Given the description of an element on the screen output the (x, y) to click on. 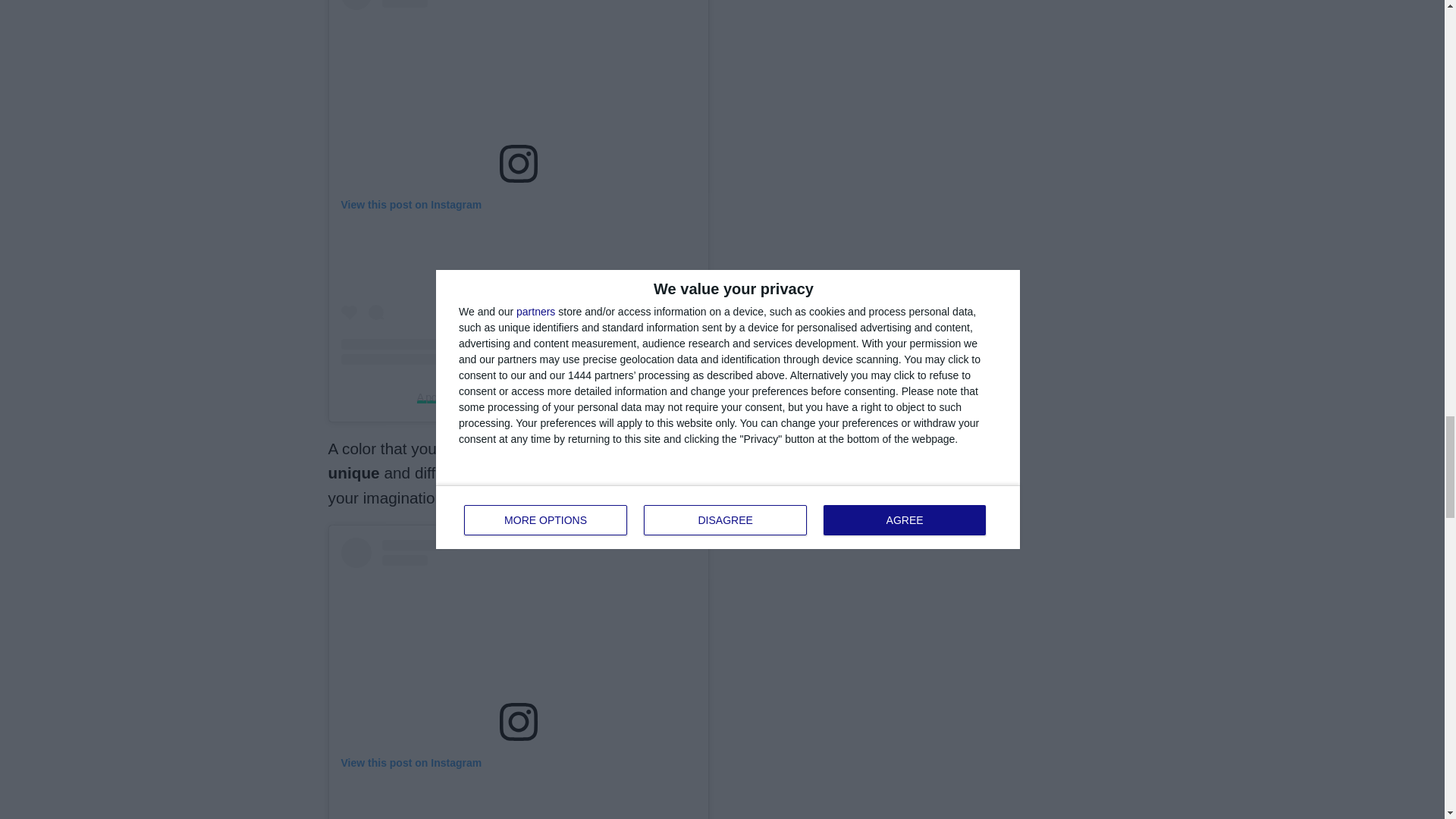
blue (694, 472)
